Given the description of an element on the screen output the (x, y) to click on. 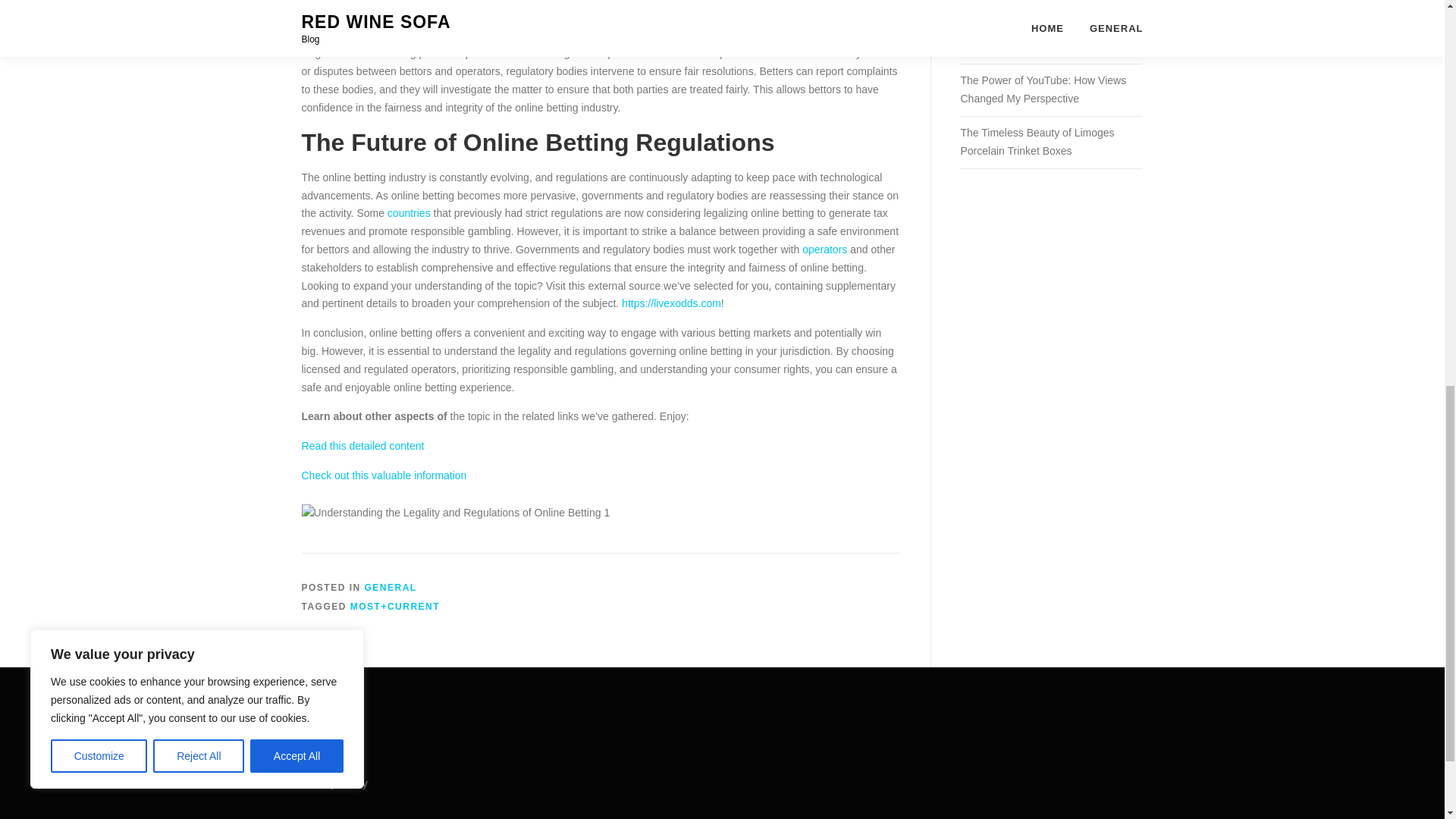
GENERAL (390, 587)
operators (824, 249)
countries (408, 213)
Check out this valuable information (384, 475)
Read this detailed content (363, 445)
